Given the description of an element on the screen output the (x, y) to click on. 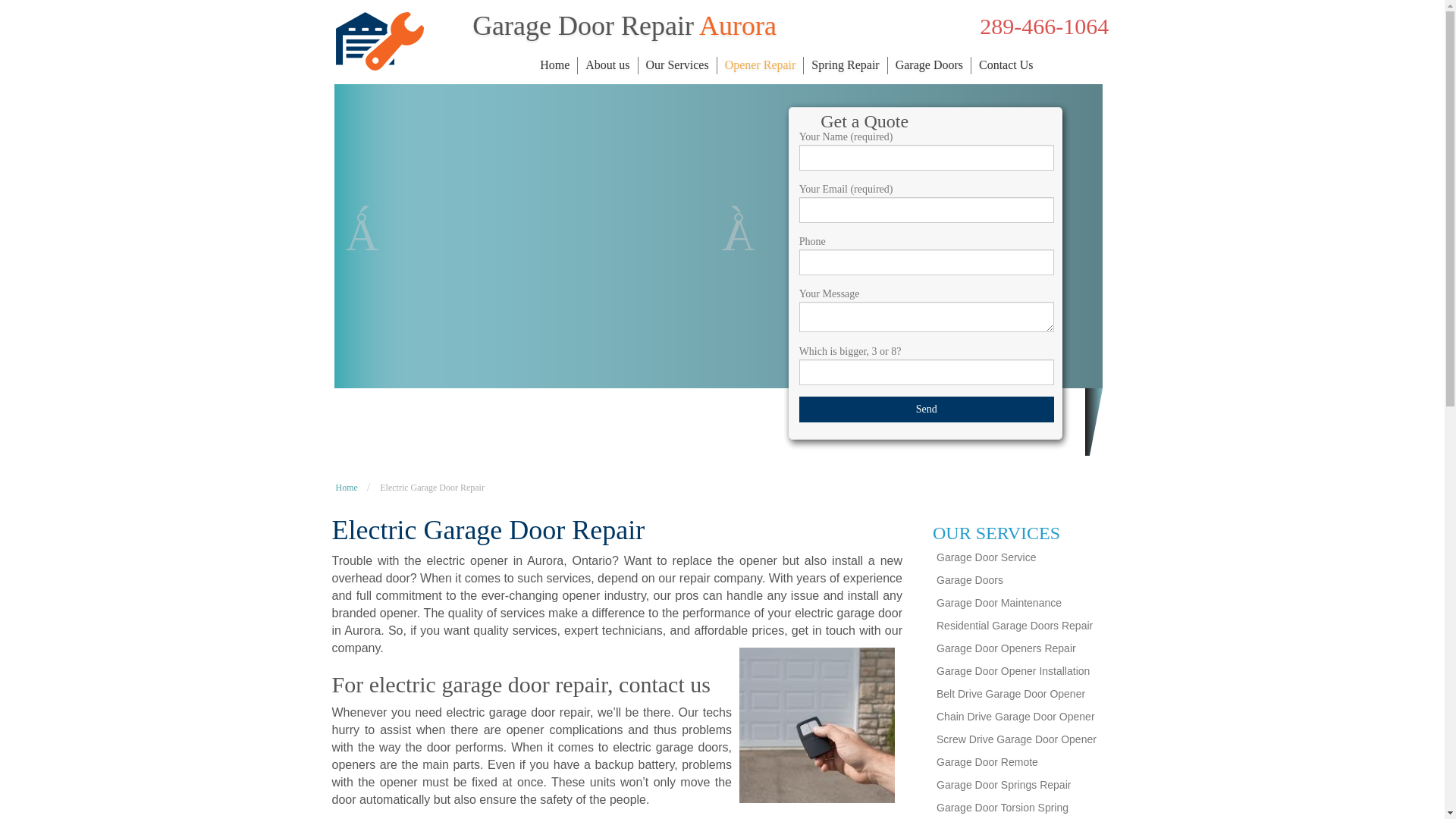
Send (926, 409)
Home (556, 65)
Our Services (679, 65)
About us (608, 65)
